Given the description of an element on the screen output the (x, y) to click on. 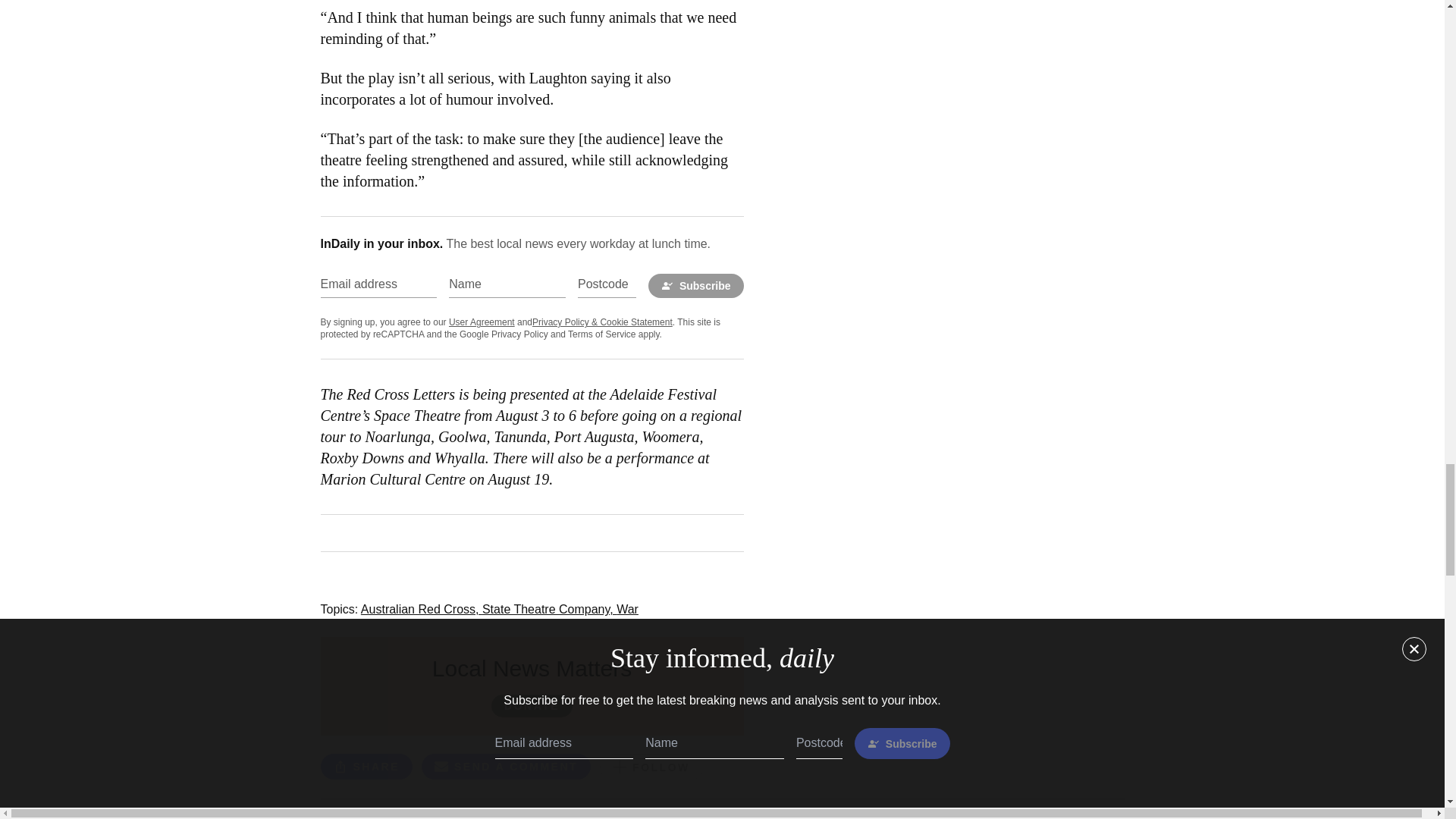
Subscribe (695, 285)
Australian Red Cross, (421, 608)
SHARE (366, 766)
User Agreement (481, 321)
War (627, 608)
State Theatre Company, (548, 608)
DONATE (532, 705)
